Given the description of an element on the screen output the (x, y) to click on. 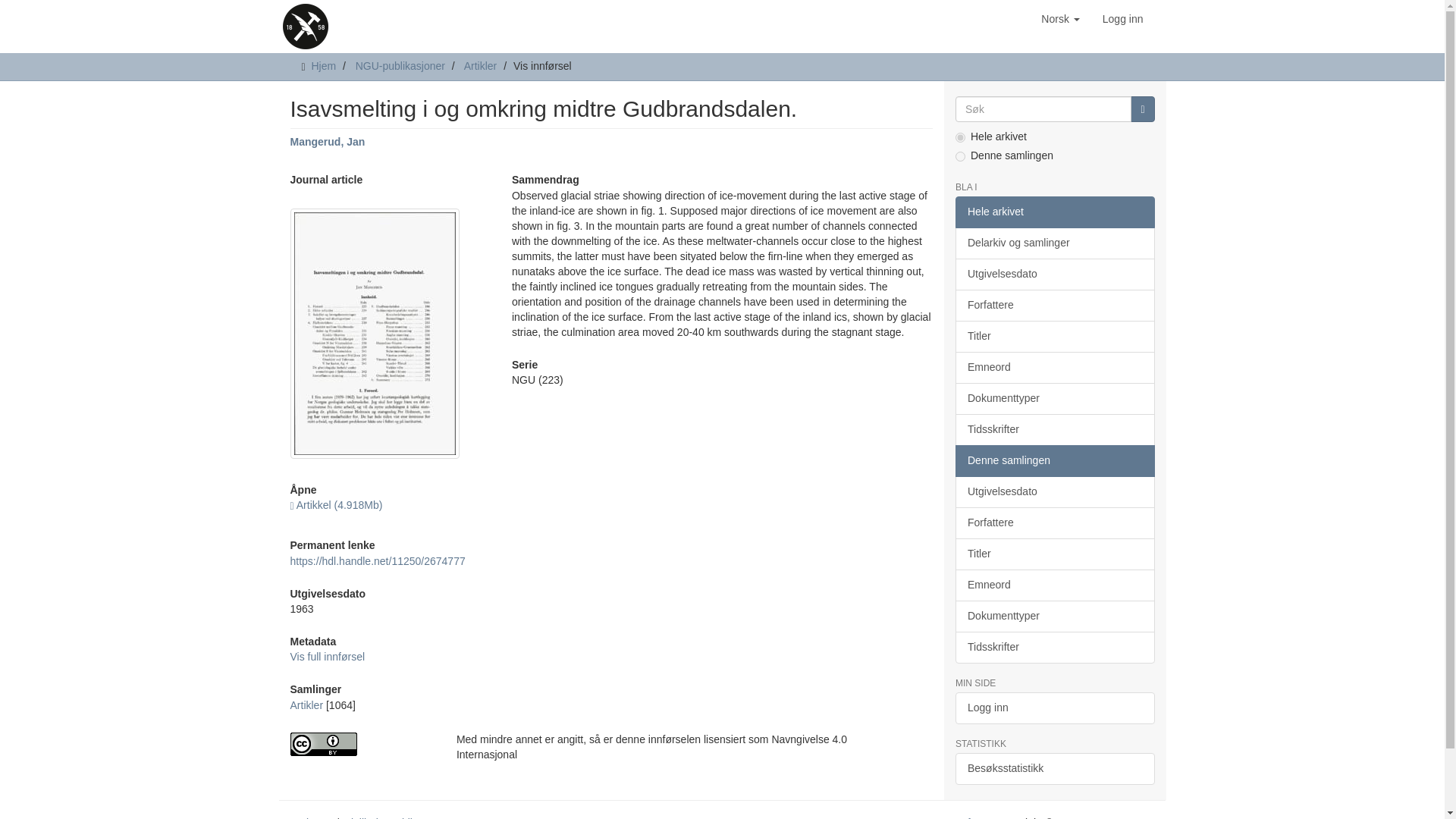
Dokumenttyper (1054, 398)
Artikler (306, 705)
Hjem (323, 65)
Navngivelse 4.0 Internasjonal (360, 743)
Hele arkivet (1054, 212)
Emneord (1054, 368)
Artikler (480, 65)
Forfattere (1054, 305)
Mangerud, Jan (327, 141)
Utgivelsesdato (1054, 274)
